Given the description of an element on the screen output the (x, y) to click on. 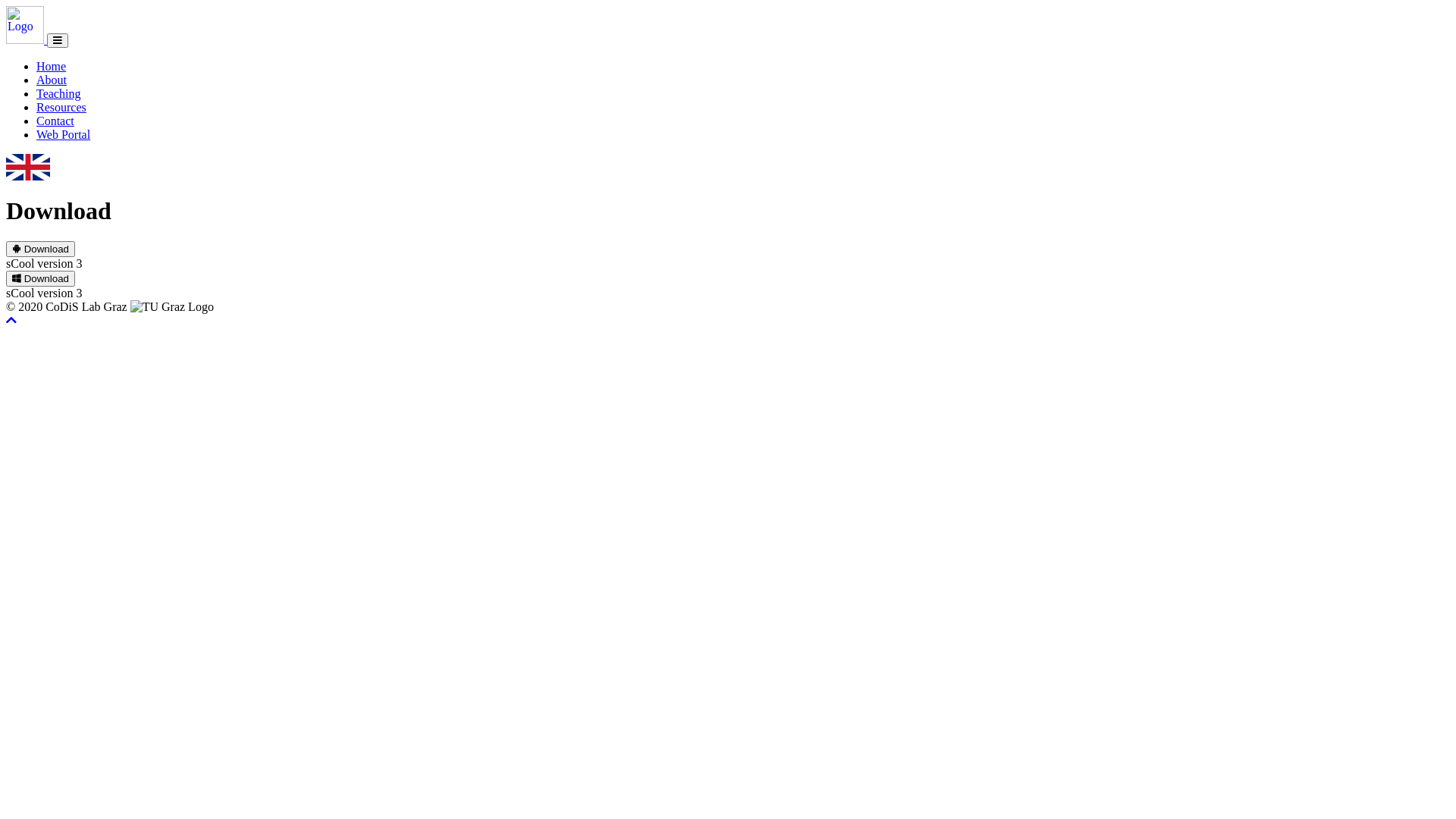
Teaching Element type: text (58, 93)
Web Portal Element type: text (63, 134)
About Element type: text (51, 79)
Click to return on the top page Element type: hover (11, 319)
Download Element type: text (40, 278)
Download Element type: text (40, 247)
Contact Element type: text (55, 120)
Resources
(current) Element type: text (61, 106)
Home Element type: text (50, 65)
Download Element type: text (40, 277)
Download Element type: text (40, 249)
